Given the description of an element on the screen output the (x, y) to click on. 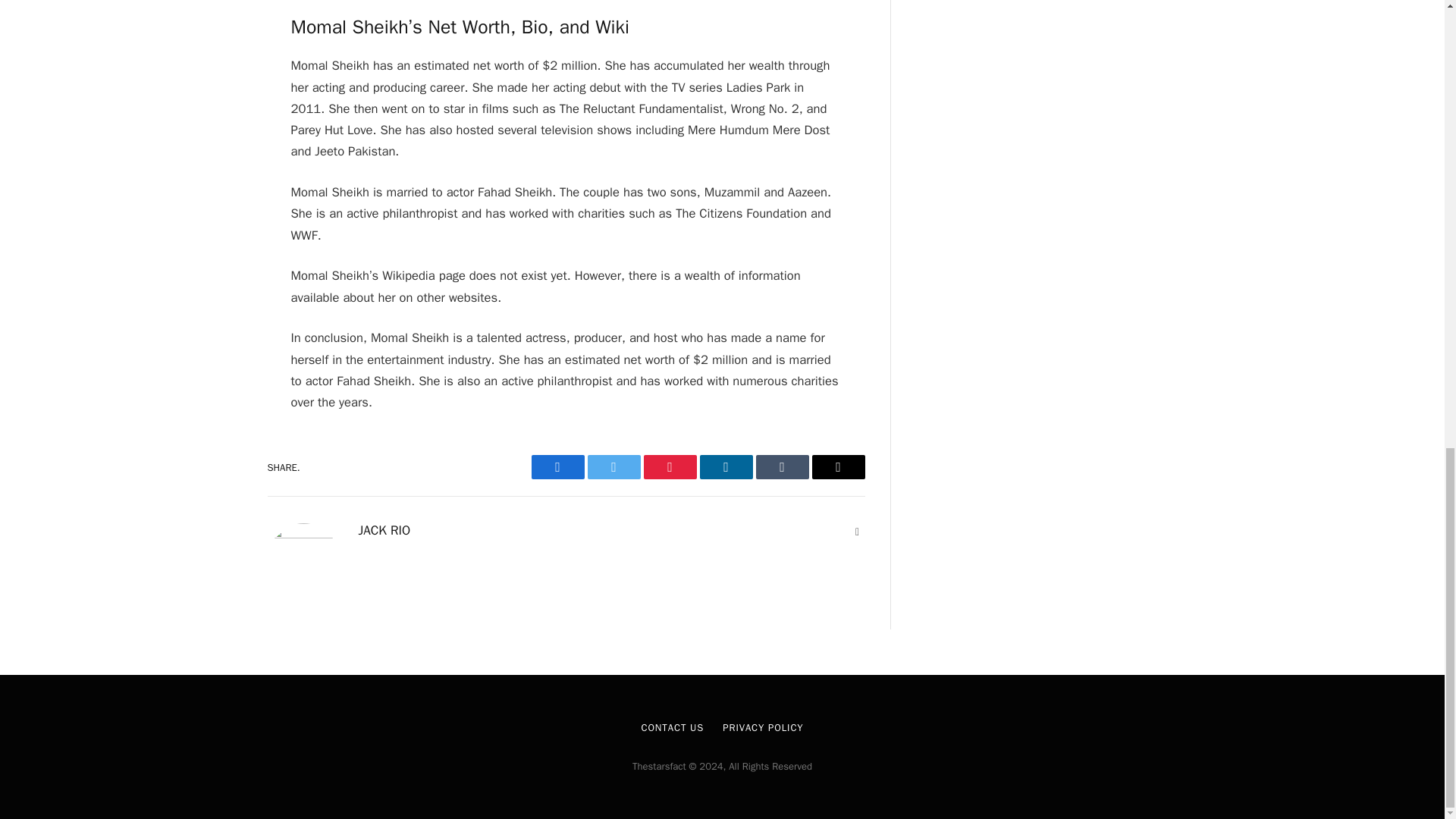
LinkedIn (725, 467)
Facebook (557, 467)
Twitter (613, 467)
Pinterest (669, 467)
